Given the description of an element on the screen output the (x, y) to click on. 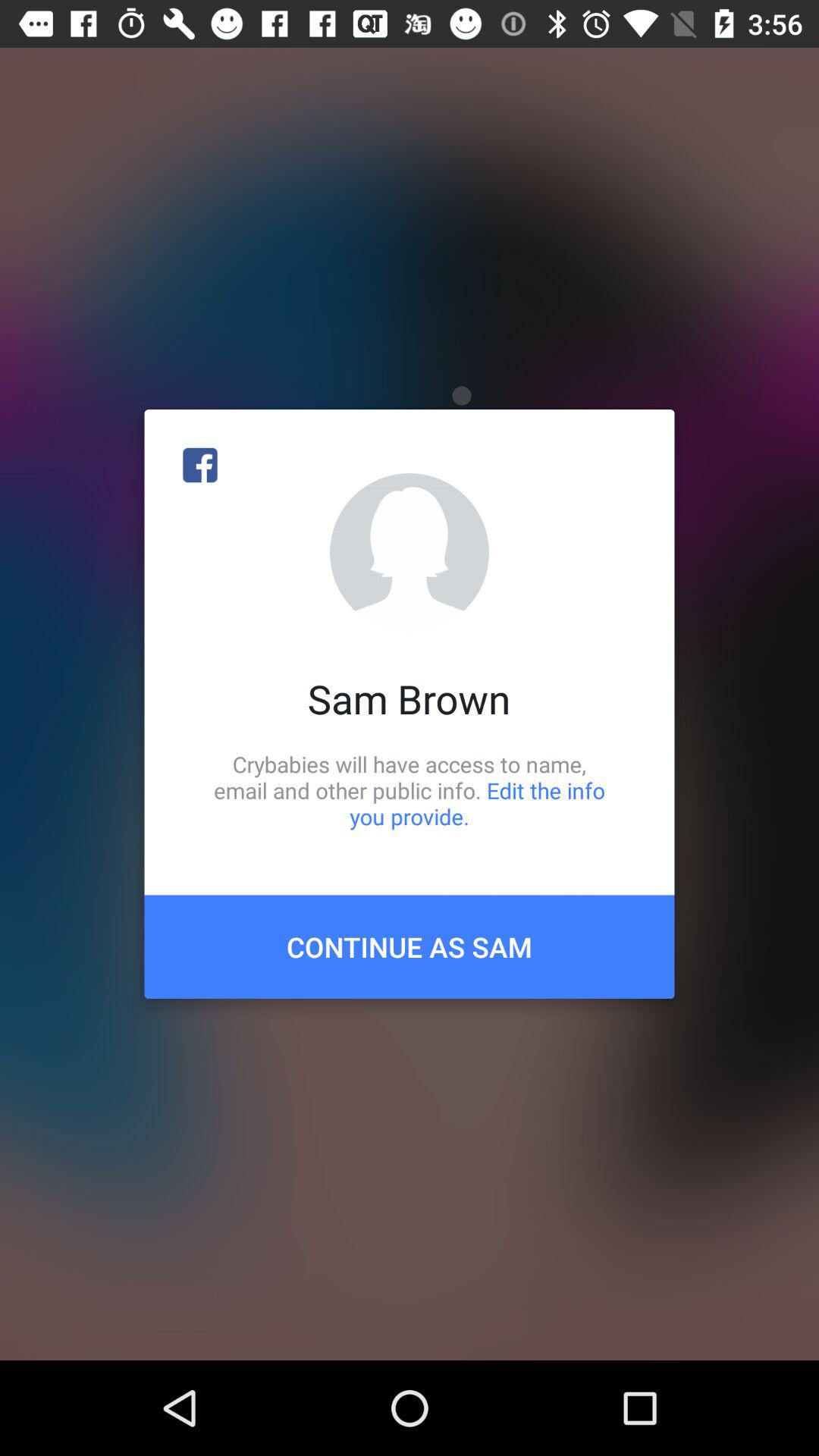
select the continue as sam icon (409, 946)
